Given the description of an element on the screen output the (x, y) to click on. 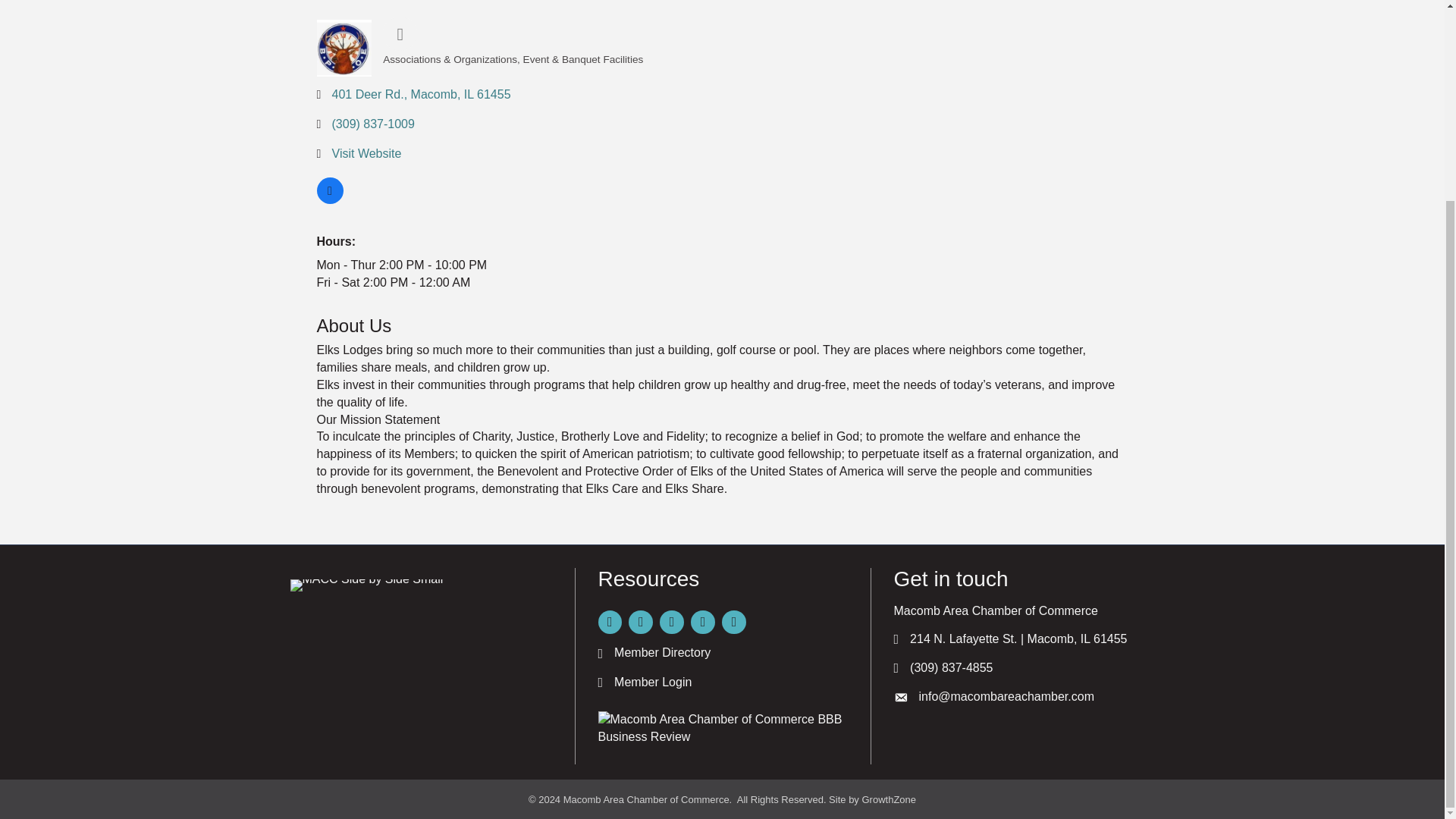
Macomb Elks Lodge 1009 (344, 47)
MACC Side by Side Small (365, 585)
View on Facebook (330, 199)
